Given the description of an element on the screen output the (x, y) to click on. 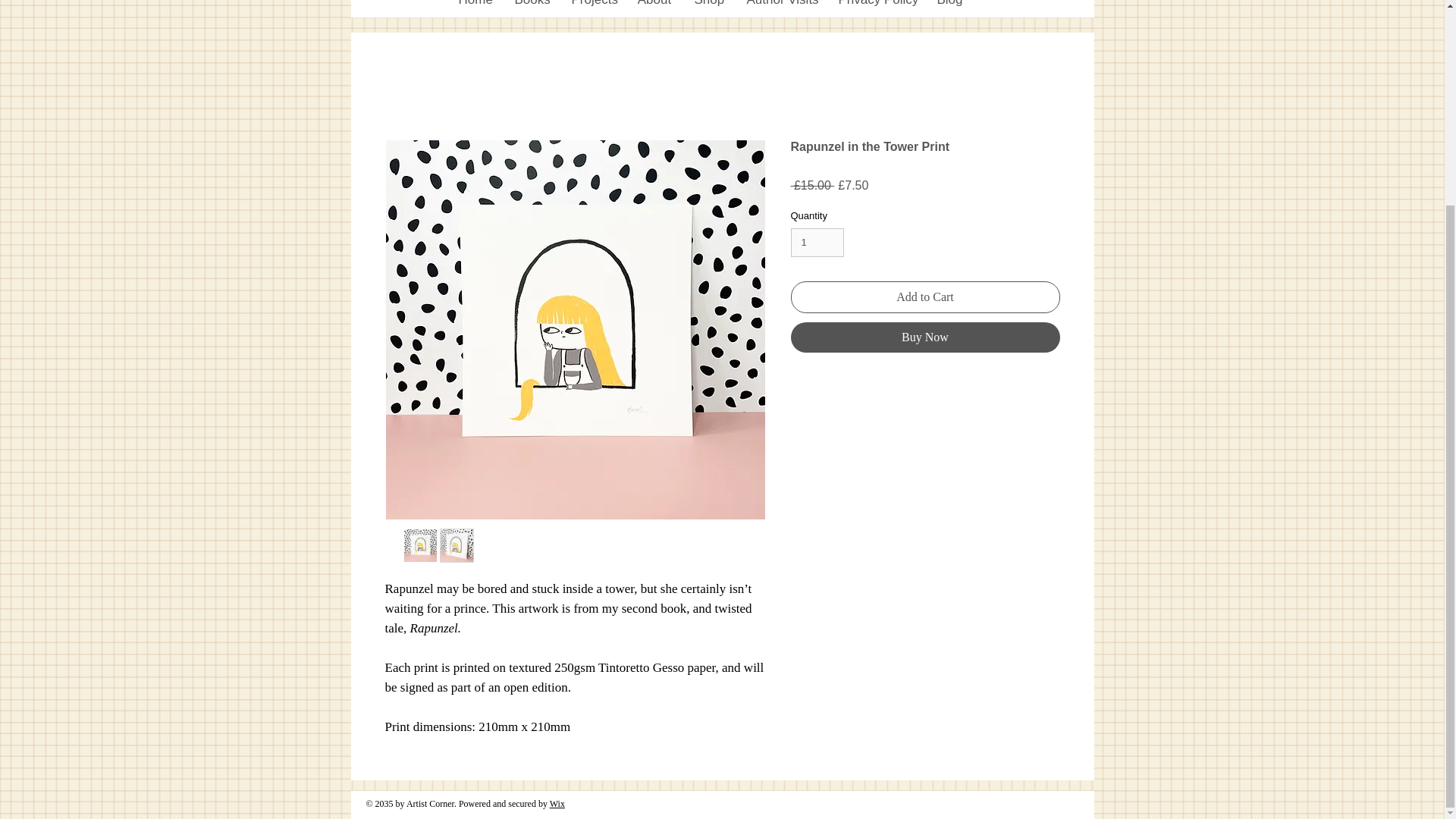
Author Visits (781, 5)
Projects (592, 5)
Home (474, 5)
Privacy Policy (875, 5)
Buy Now (924, 337)
Books (531, 5)
Shop (708, 5)
About (654, 5)
Blog (949, 5)
Add to Cart (924, 296)
Wix (557, 803)
1 (817, 242)
